Given the description of an element on the screen output the (x, y) to click on. 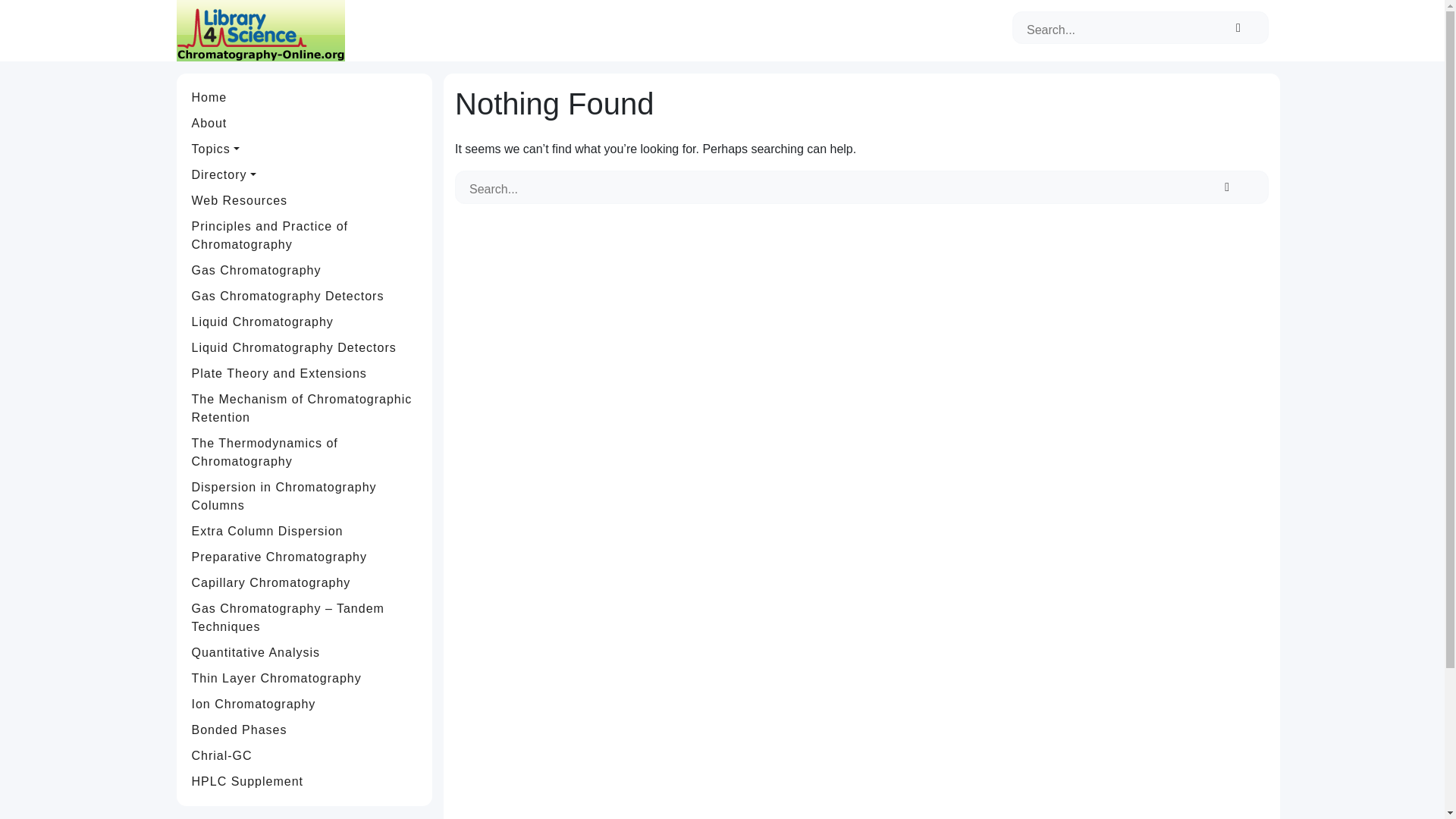
Dispersion in Chromatography Columns (304, 496)
Ion Chromatography (304, 704)
Quantitative Analysis (304, 652)
Web Resources (304, 200)
The Thermodynamics of Chromatography (304, 452)
Principles and Practice of Chromatography (304, 235)
Bonded Phases (304, 729)
Liquid Chromatography Detectors (304, 347)
Gas Chromatography (304, 270)
Extra Column Dispersion (304, 531)
Chrial-GC (304, 755)
Liquid Chromatography (304, 321)
chromatography-online (259, 29)
Topics (304, 149)
Thin Layer Chromatography (304, 678)
